Given the description of an element on the screen output the (x, y) to click on. 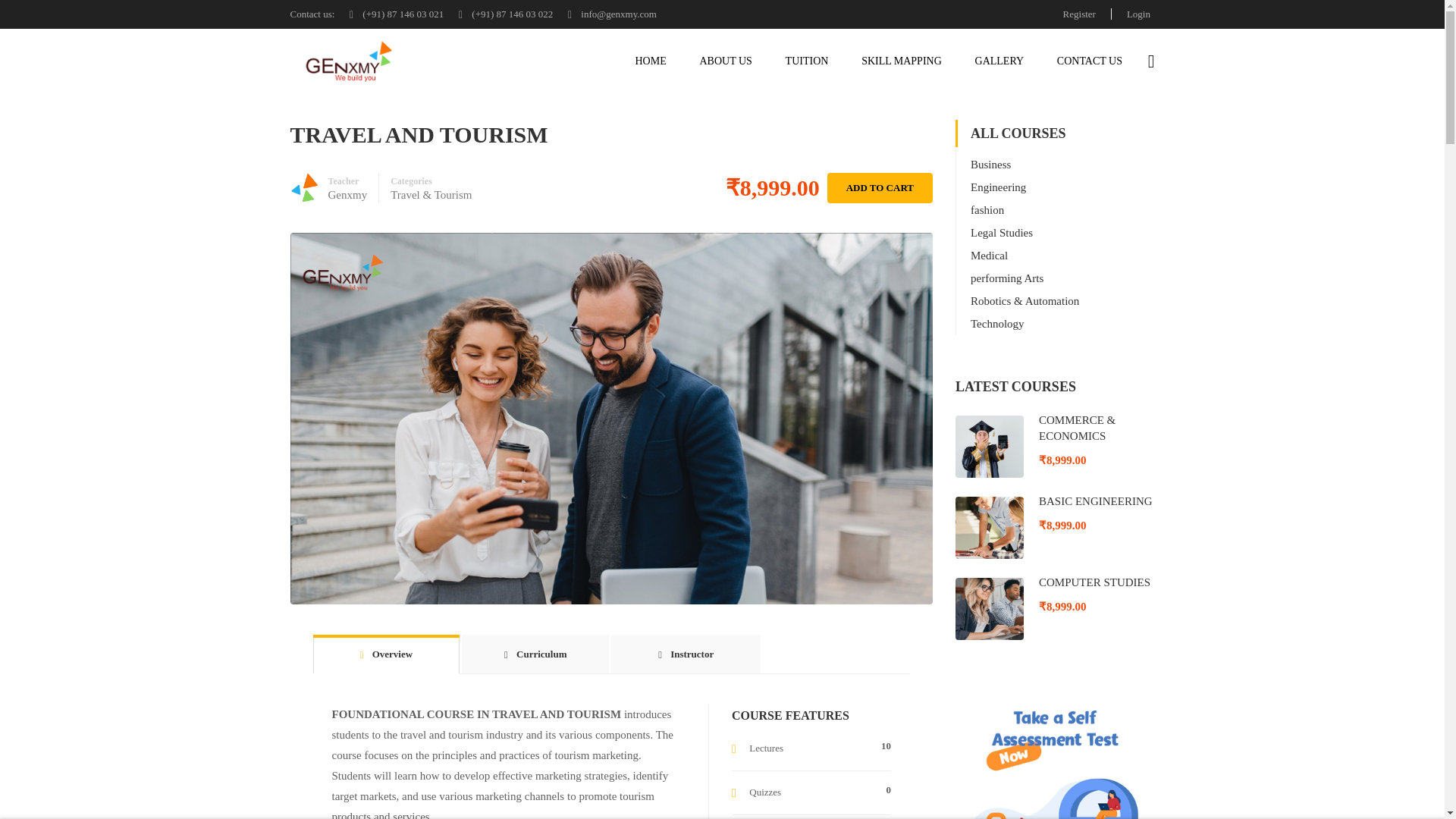
TUITION (807, 61)
Register (1080, 13)
SKILL MAPPING (900, 61)
CONTACT US (1089, 61)
Genxmy (346, 194)
HOME (650, 61)
Curriculum (534, 654)
Instructor (685, 654)
GALLERY (999, 61)
